Given the description of an element on the screen output the (x, y) to click on. 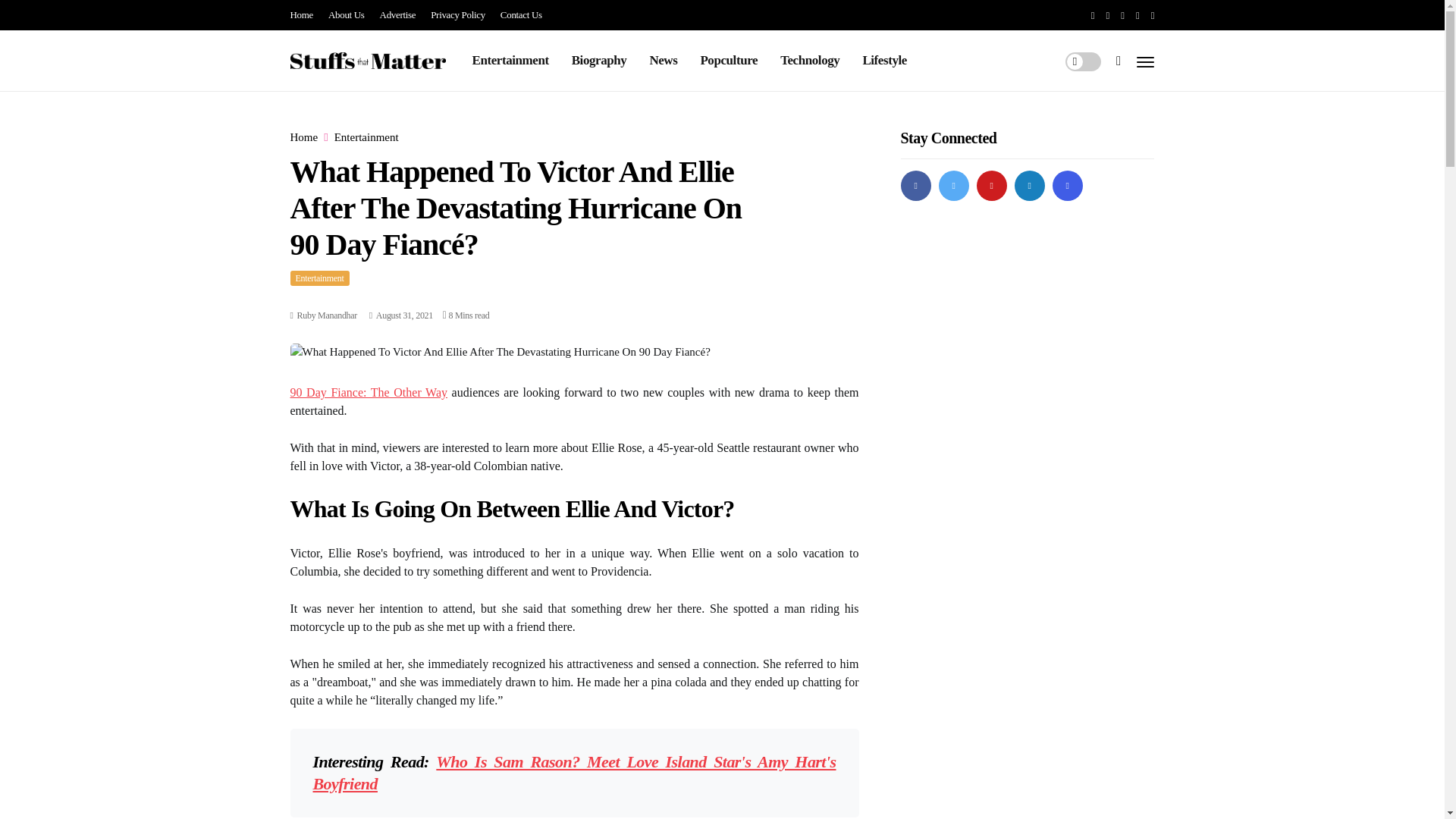
Popculture (728, 60)
Home (303, 137)
About Us (347, 15)
Entertainment (319, 277)
Privacy Policy (457, 15)
Contact Us (520, 15)
Advertise (398, 15)
Posts by Ruby Manandhar (326, 315)
Ruby Manandhar (326, 315)
Biography (599, 60)
